Given the description of an element on the screen output the (x, y) to click on. 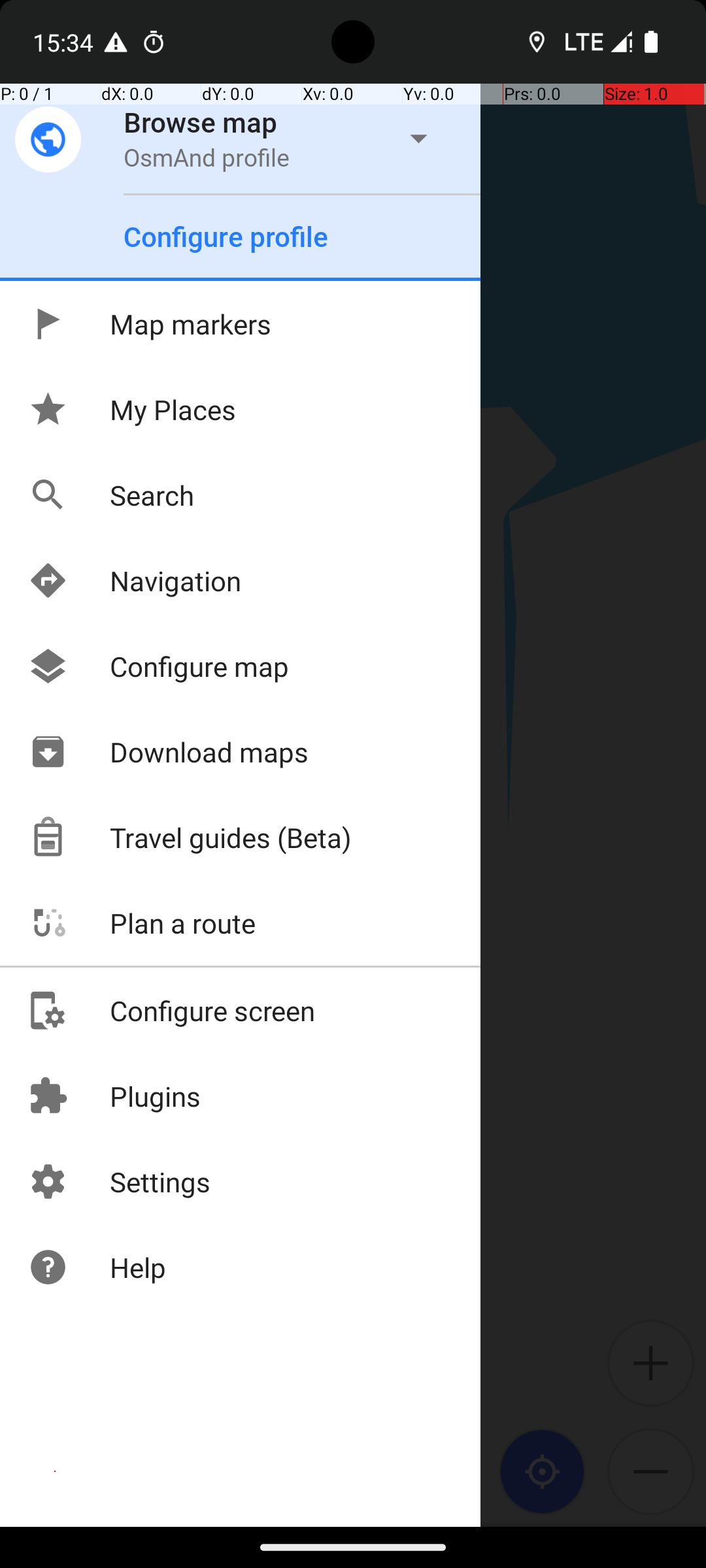
Browse map Element type: android.widget.TextView (200, 121)
OsmAnd profile Element type: android.widget.TextView (206, 156)
Configure profile Element type: android.widget.TextView (225, 235)
Map markers Element type: android.widget.TextView (149, 323)
My Places Element type: android.widget.TextView (131, 409)
Navigation Element type: android.widget.TextView (134, 580)
Download maps Element type: android.widget.TextView (168, 751)
Travel guides (Beta) Element type: android.widget.TextView (189, 837)
Plan a route Element type: android.widget.TextView (141, 922)
Configure screen Element type: android.widget.TextView (171, 1010)
Plugins Element type: android.widget.TextView (114, 1095)
Help Element type: android.widget.TextView (96, 1266)
